Given the description of an element on the screen output the (x, y) to click on. 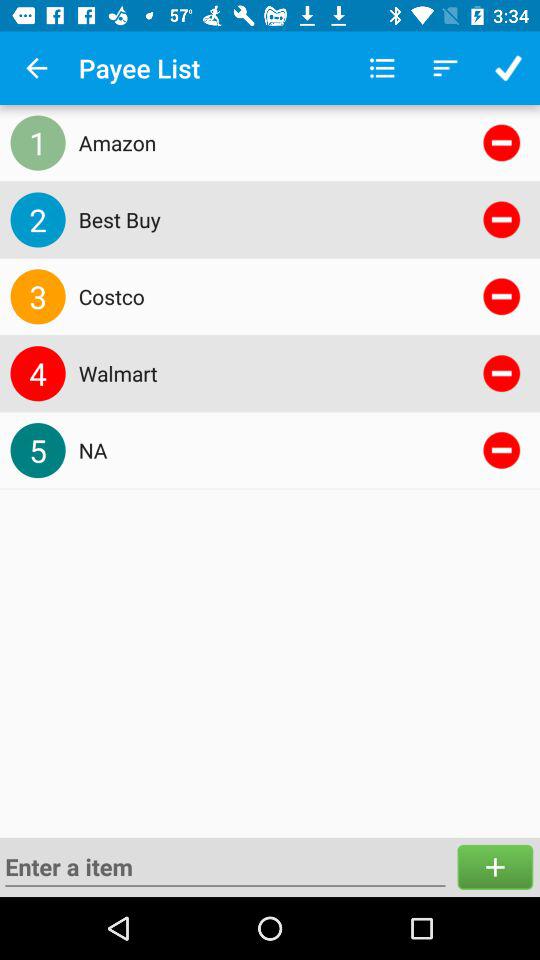
add item option (495, 866)
